Given the description of an element on the screen output the (x, y) to click on. 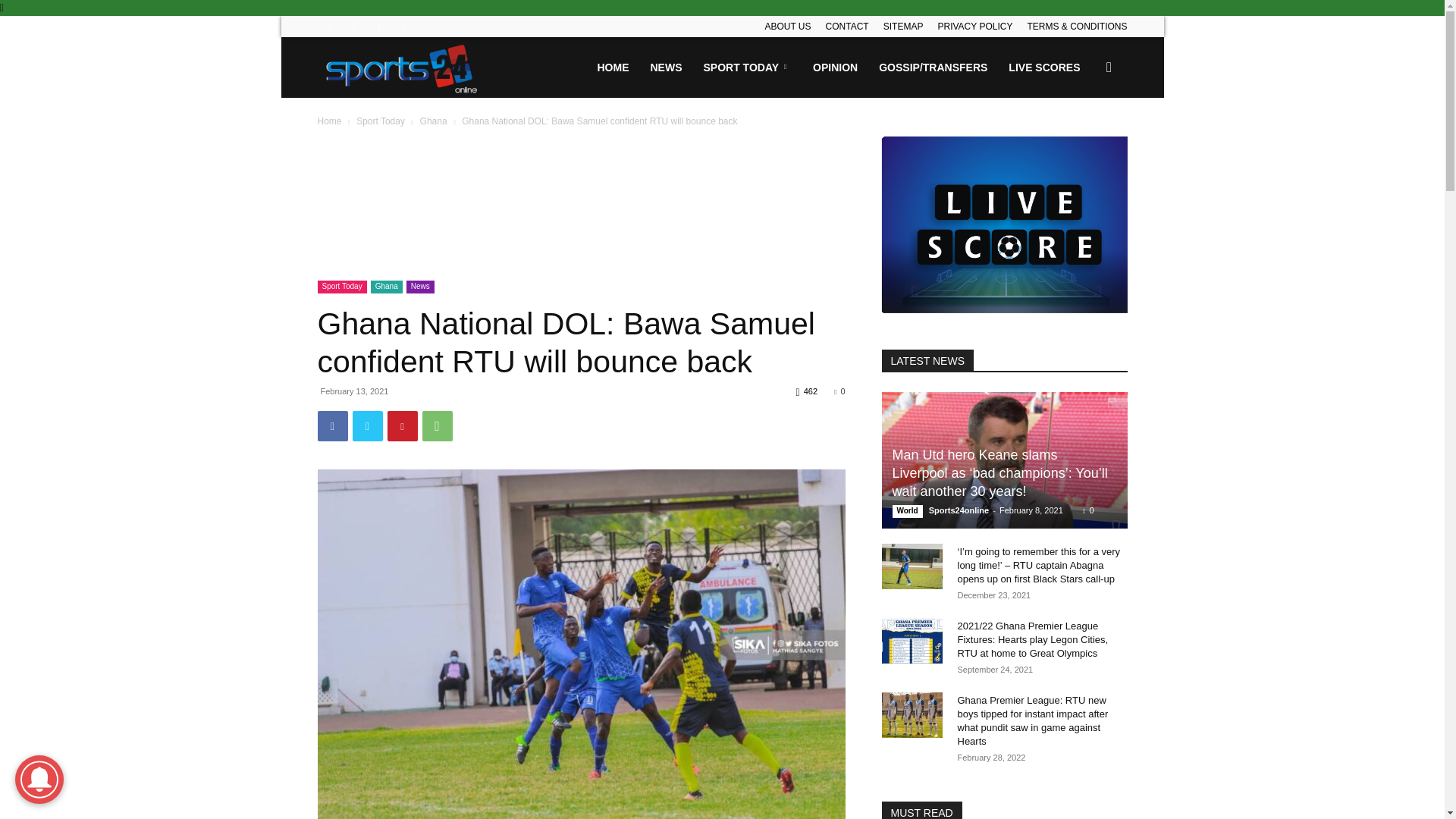
Youtube (403, 25)
SPORT TODAY (748, 66)
Instagram (353, 25)
SITEMAP (903, 26)
Sports24online (401, 67)
Search (1085, 139)
ABOUT US (787, 26)
PRIVACY POLICY (974, 26)
CONTACT (847, 26)
Twitter (379, 25)
Facebook (328, 25)
